Given the description of an element on the screen output the (x, y) to click on. 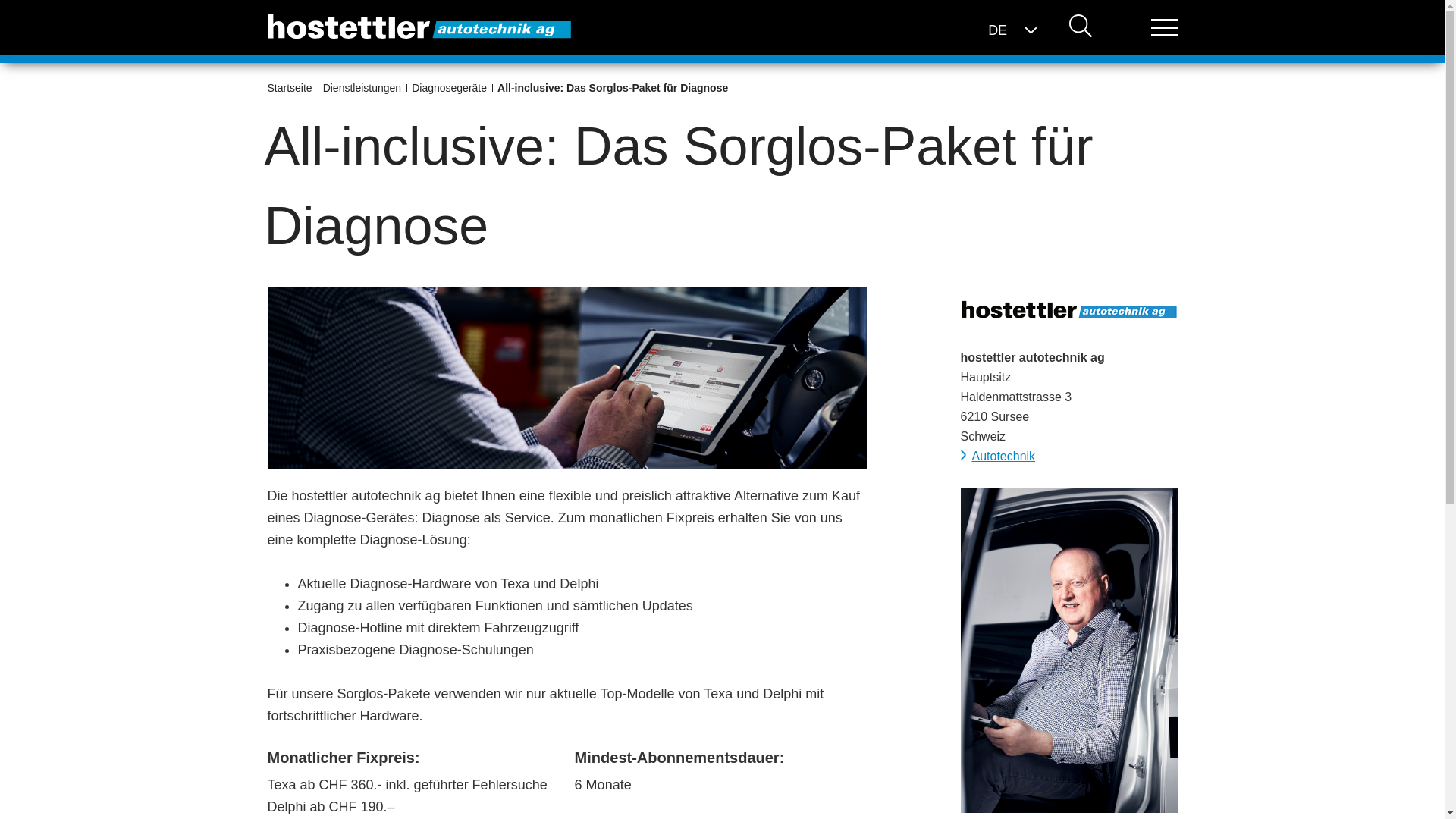
DE Element type: text (997, 29)
Dienstleistungen Element type: text (365, 87)
Startseite Element type: text (291, 87)
Zur Hauptnavigation springen Element type: text (0, 0)
Suchen Element type: hover (1080, 27)
Autotechnik Element type: text (997, 455)
